Given the description of an element on the screen output the (x, y) to click on. 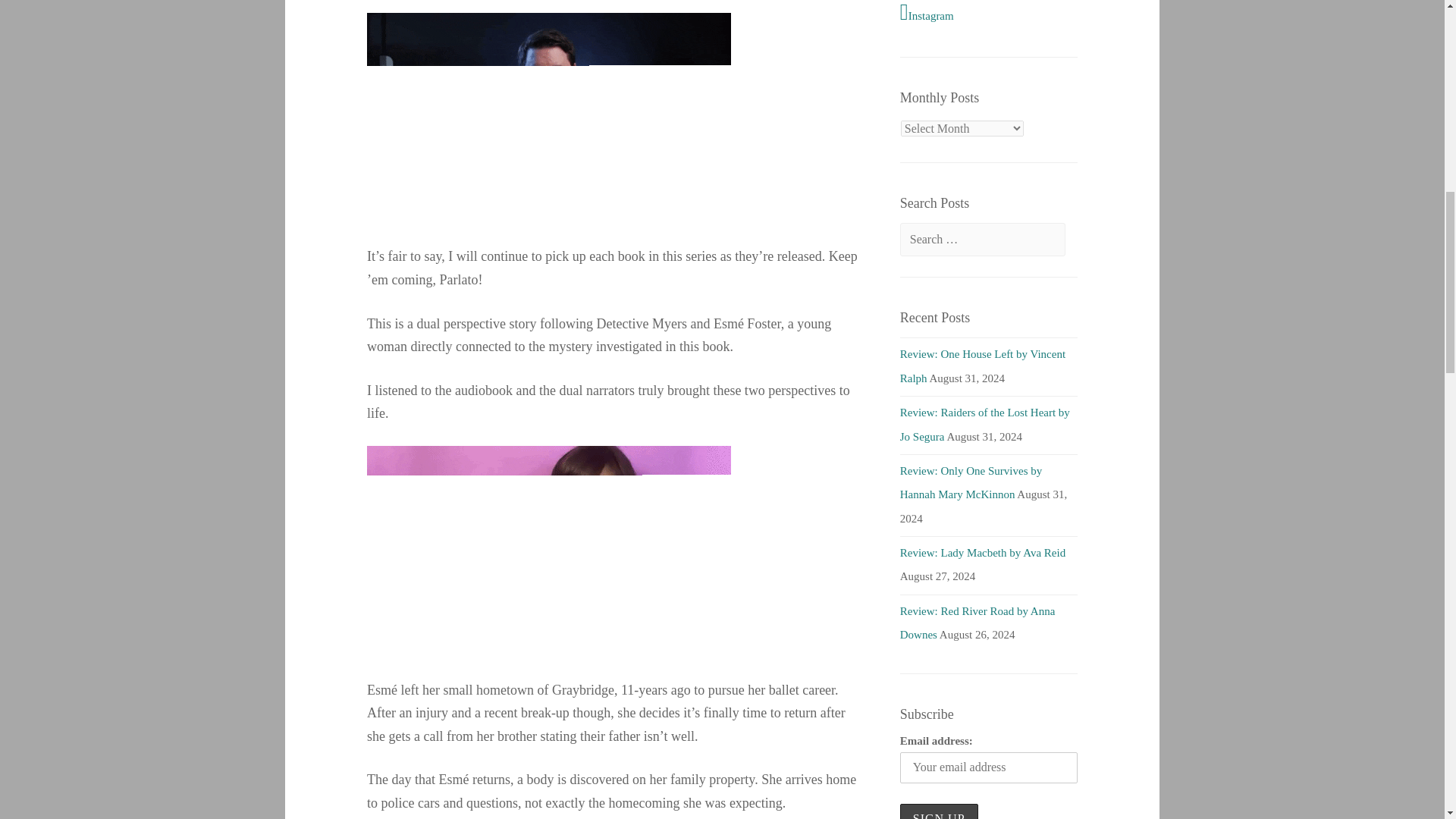
Review: Red River Road by Anna Downes (977, 622)
Sign up (938, 811)
Review: Raiders of the Lost Heart by Jo Segura (984, 424)
Review: Lady Macbeth by Ava Reid (982, 552)
Instagram (988, 13)
Sign up (938, 811)
Review: One House Left by Vincent Ralph (982, 366)
Visit megsbookrack on Instagram (988, 13)
Review: Only One Survives by Hannah Mary McKinnon (970, 482)
